Given the description of an element on the screen output the (x, y) to click on. 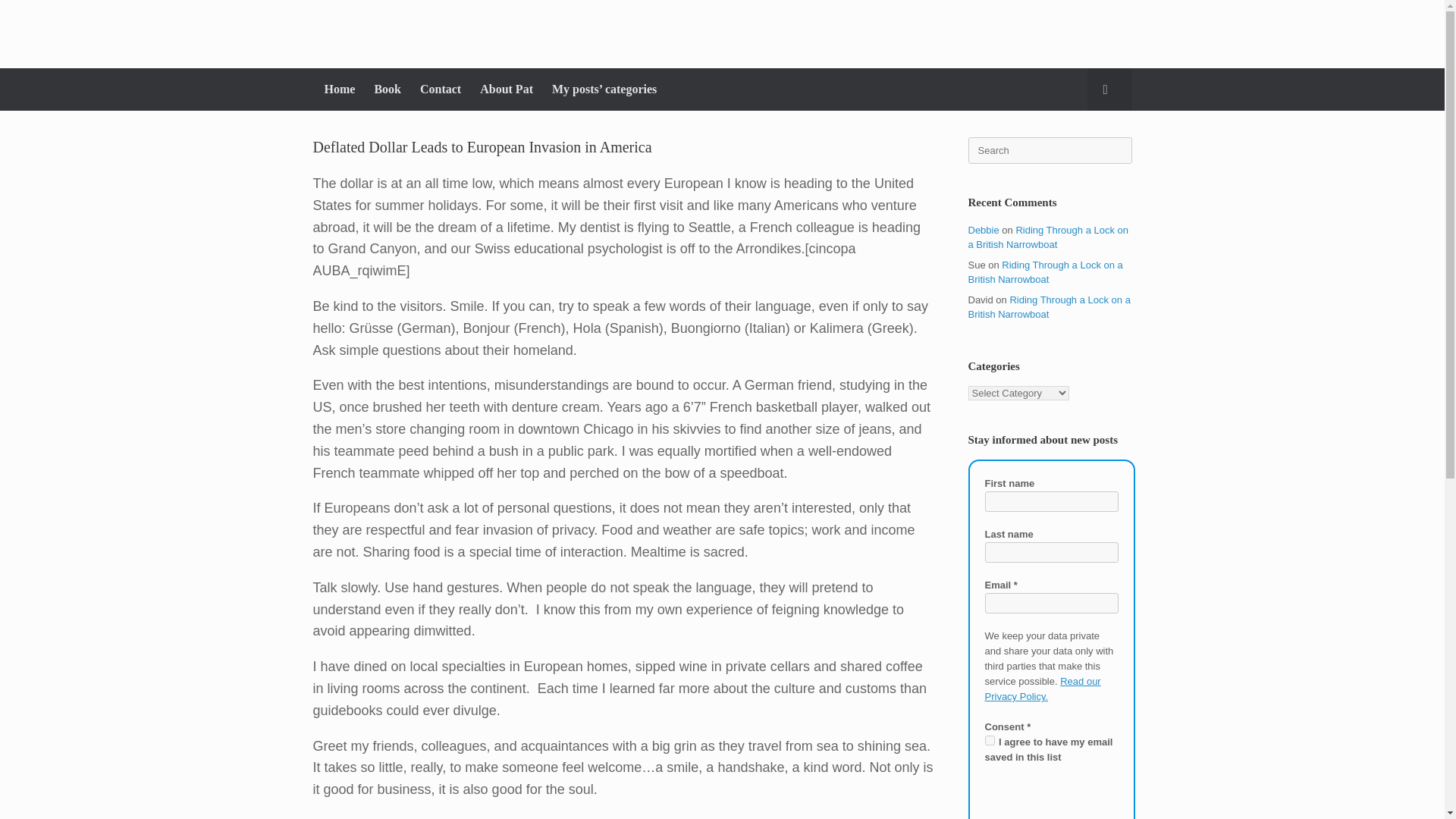
Contact (438, 88)
Home (337, 88)
Email (1051, 602)
Read our Privacy Policy. (1042, 688)
Riding Through a Lock on a British Narrowboat (1045, 272)
1 (989, 740)
Riding Through a Lock on a British Narrowboat (1048, 237)
reCAPTCHA (1046, 799)
Book (385, 88)
Riding Through a Lock on a British Narrowboat (1048, 307)
First name (1051, 501)
Debbie (983, 229)
Last name (1051, 552)
About Pat (504, 88)
